Given the description of an element on the screen output the (x, y) to click on. 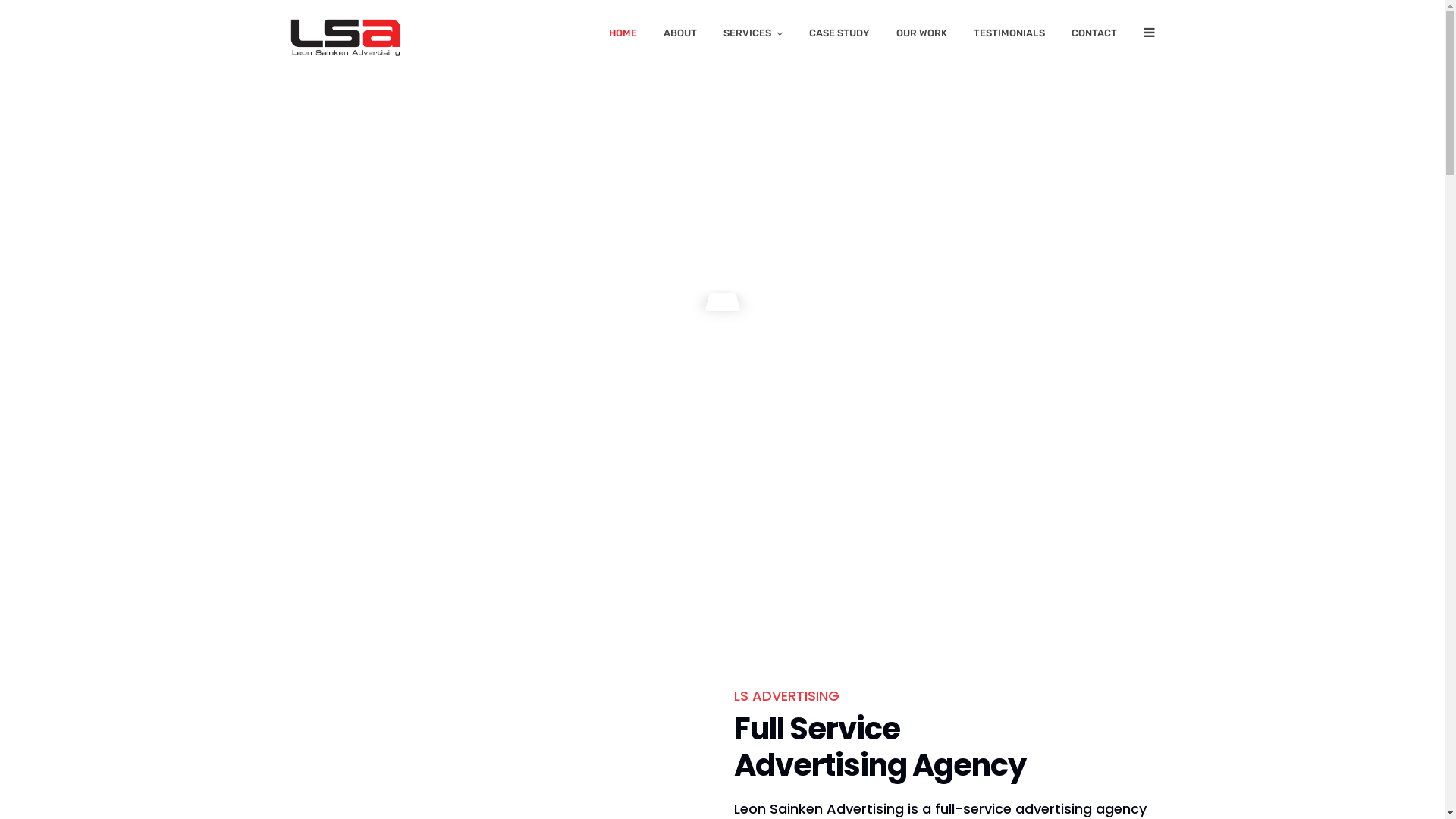
OUR WORK Element type: text (921, 36)
HOME Element type: text (622, 36)
SERVICES Element type: text (752, 36)
ABOUT Element type: text (679, 36)
CASE STUDY Element type: text (838, 36)
CONTACT Element type: text (1093, 36)
TESTIMONIALS Element type: text (1008, 36)
